Given the description of an element on the screen output the (x, y) to click on. 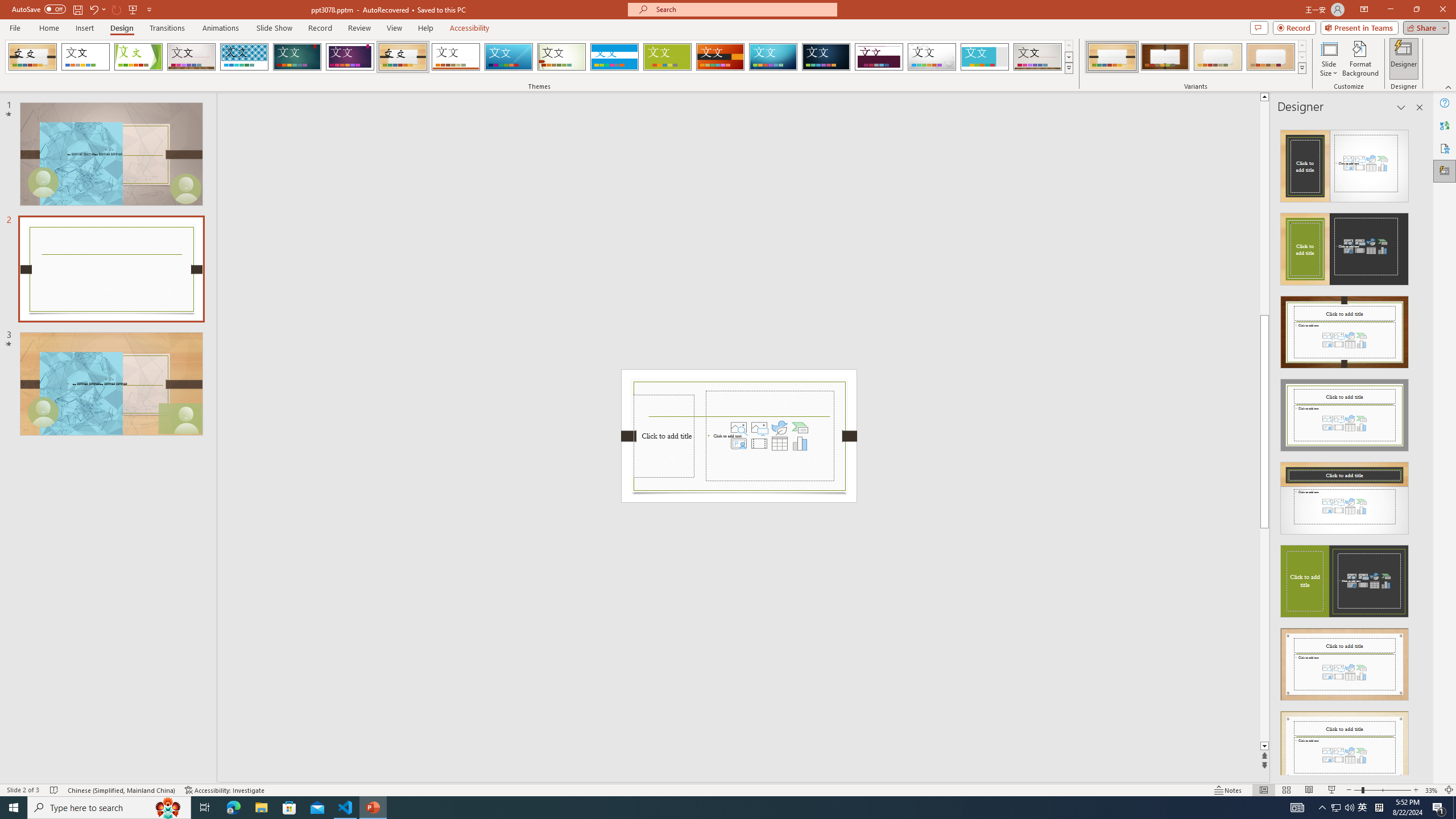
Ion Boardroom (350, 56)
Wisp (561, 56)
Frame (984, 56)
Slice (508, 56)
Variants (1301, 67)
Retrospect (455, 56)
Pictures (758, 427)
